Given the description of an element on the screen output the (x, y) to click on. 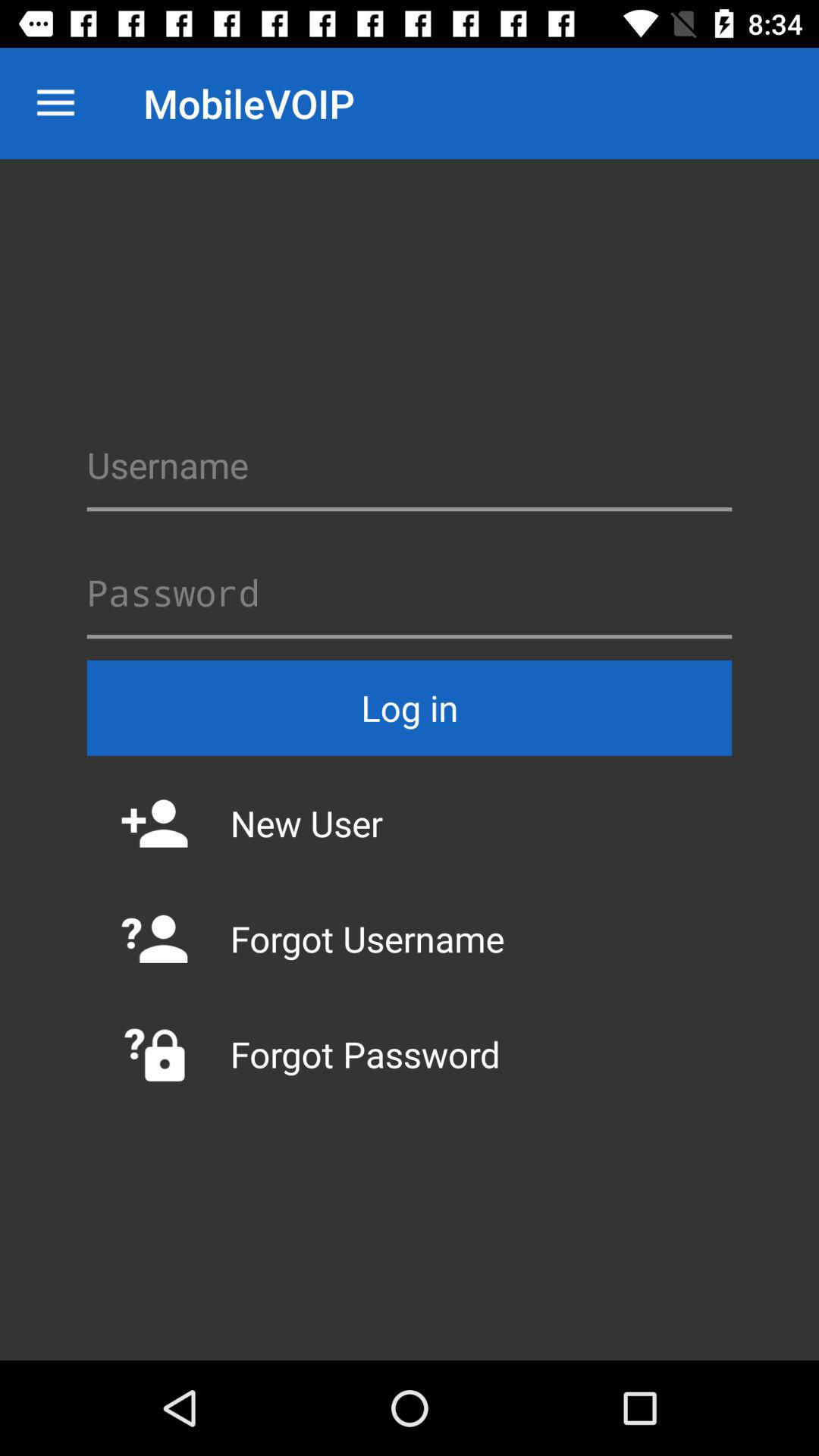
jump until log in (409, 707)
